Given the description of an element on the screen output the (x, y) to click on. 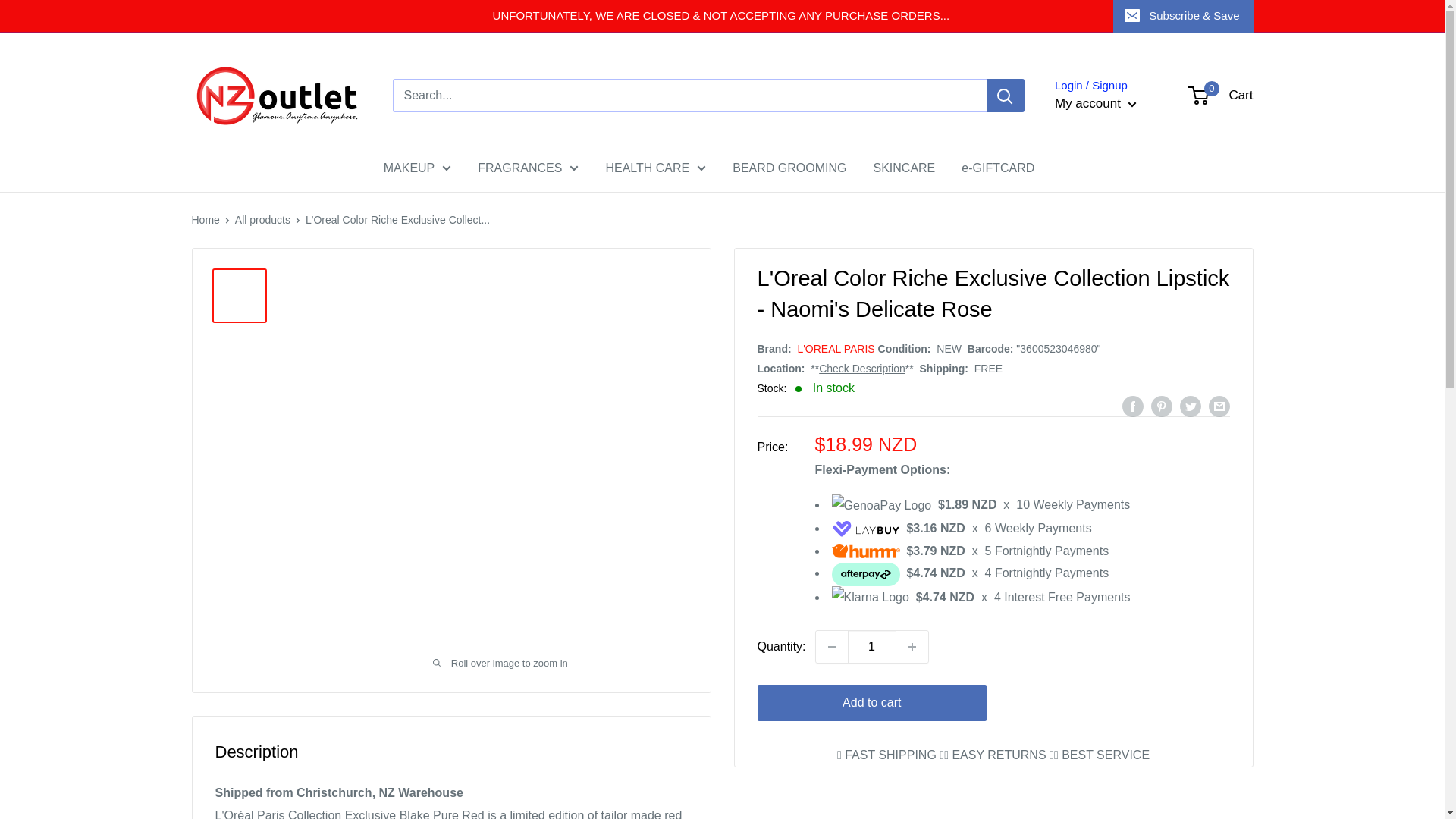
1 (871, 646)
Increase quantity by 1 (912, 646)
Decrease quantity by 1 (831, 646)
